Given the description of an element on the screen output the (x, y) to click on. 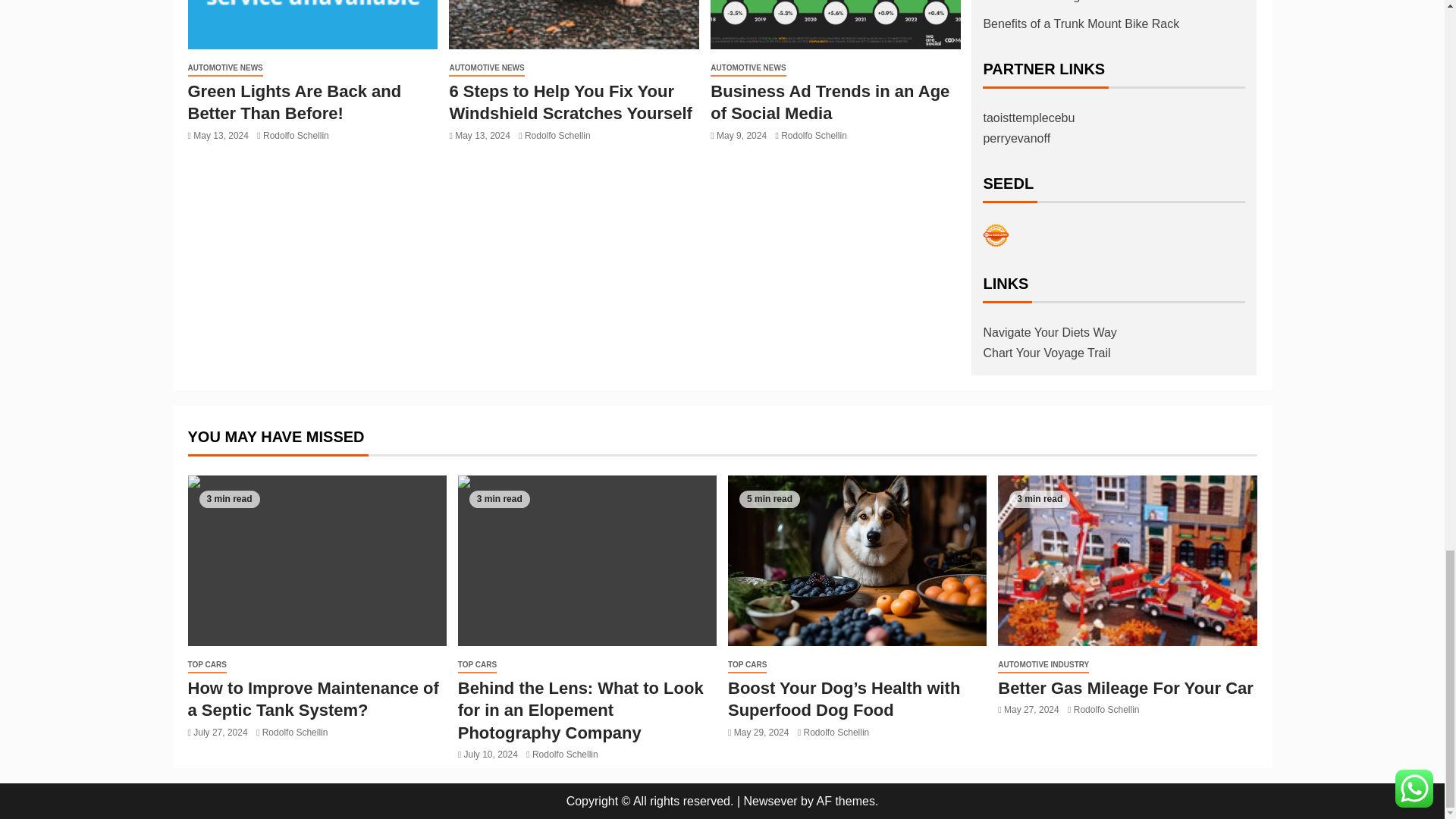
6 Steps to Help You Fix Your Windshield Scratches Yourself (573, 24)
Business Ad Trends in an Age of Social Media (835, 24)
Green Lights Are Back and Better Than Before! (312, 24)
